Given the description of an element on the screen output the (x, y) to click on. 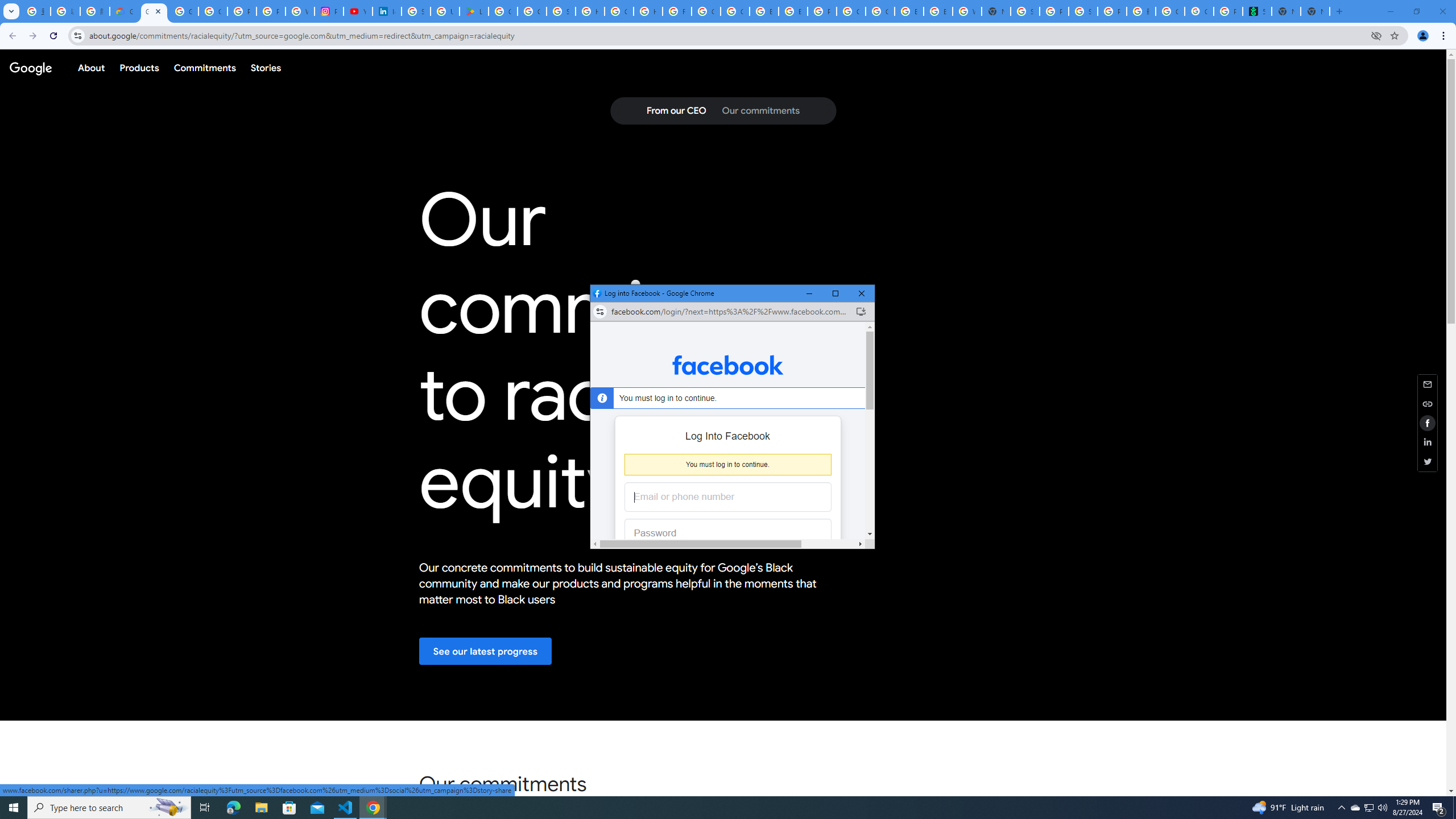
Email or phone number (727, 497)
